Given the description of an element on the screen output the (x, y) to click on. 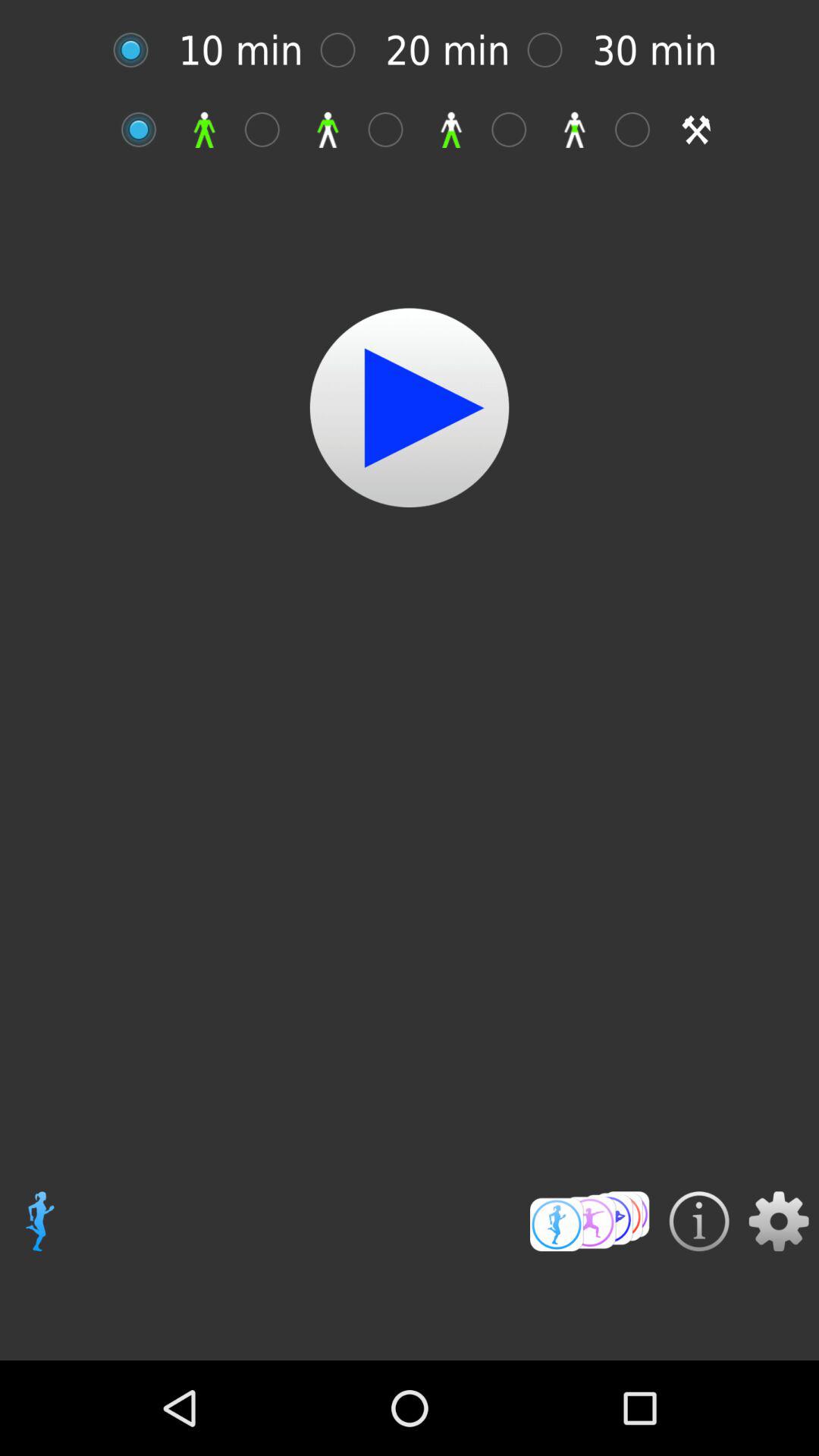
select time (138, 49)
